Given the description of an element on the screen output the (x, y) to click on. 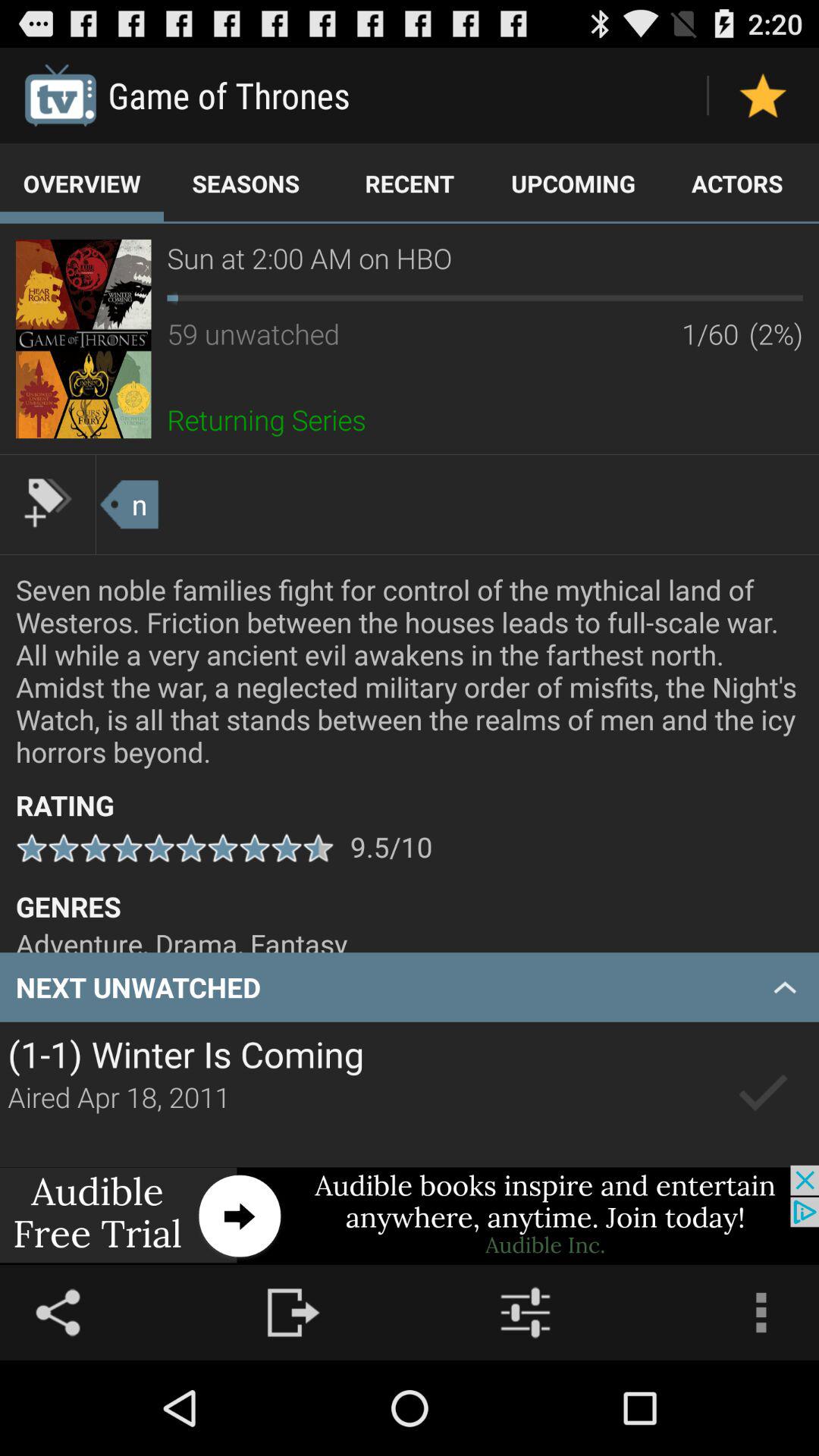
favorites it (763, 95)
